Given the description of an element on the screen output the (x, y) to click on. 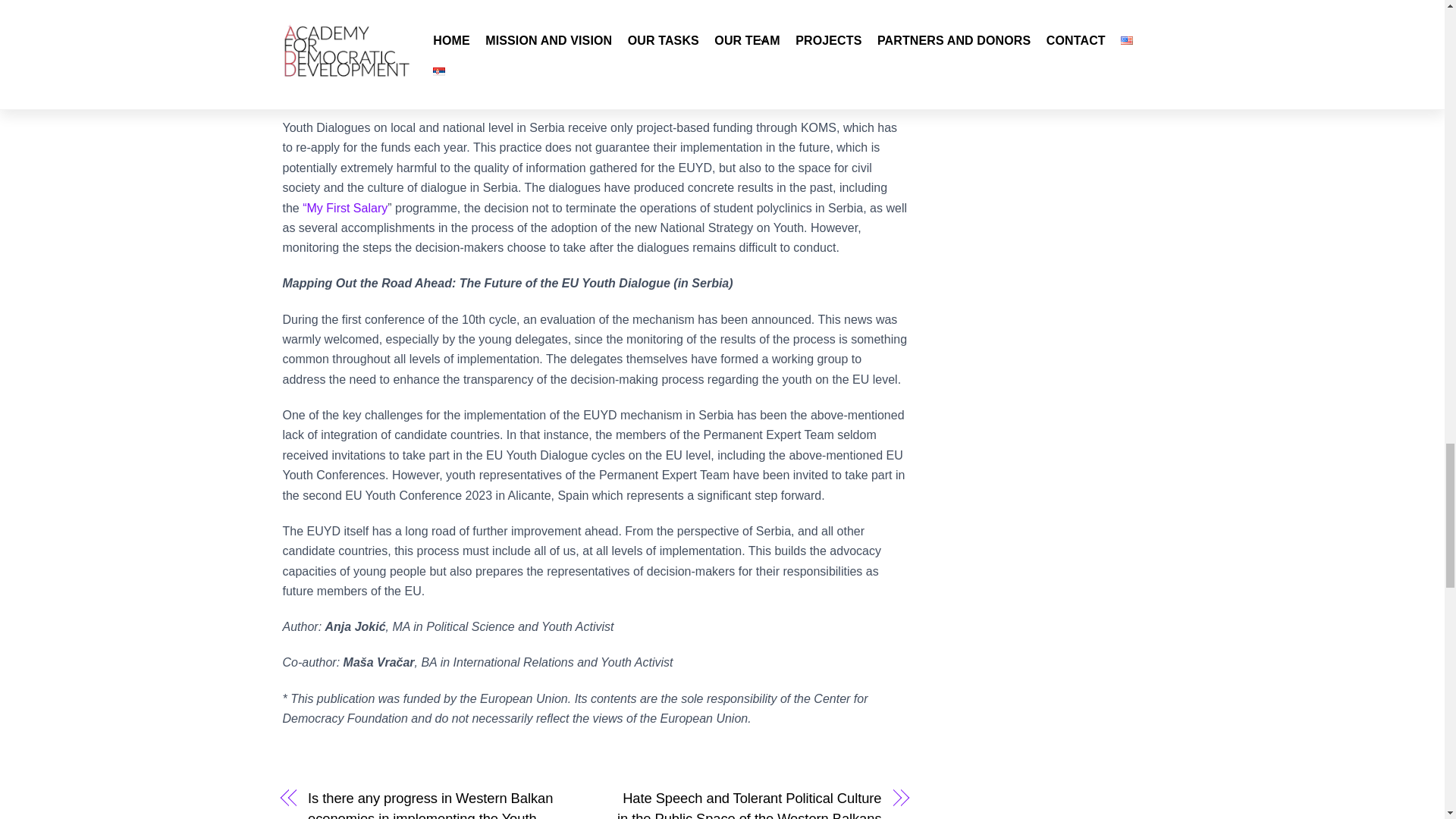
data on local youth policy (771, 11)
